Given the description of an element on the screen output the (x, y) to click on. 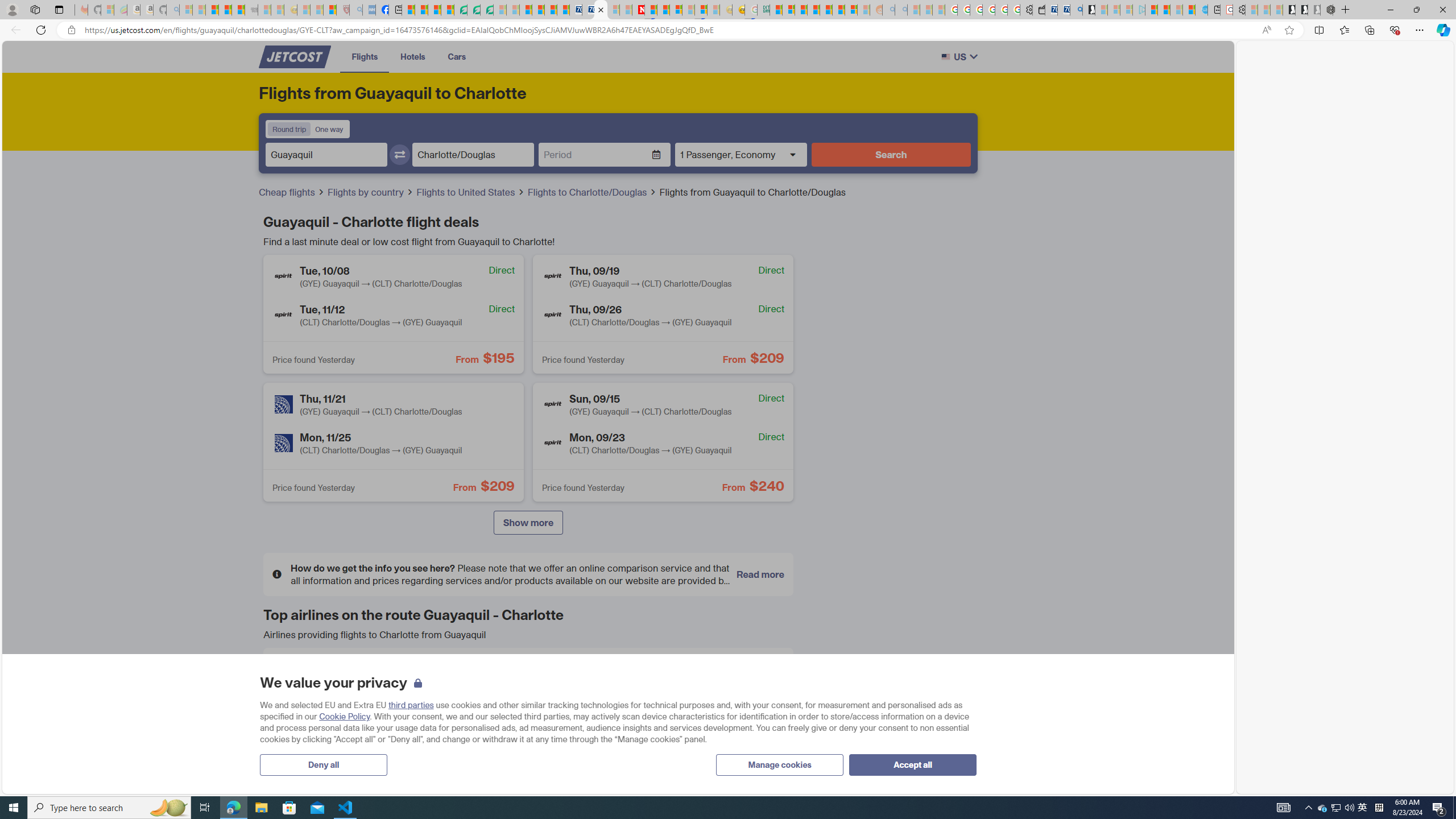
Bing Real Estate - Home sales and rental listings (1076, 9)
LATAM LATAM (528, 716)
Settings (1238, 9)
United (290, 756)
Close (1442, 9)
Terms of Use Agreement (473, 9)
Cars (456, 56)
